Given the description of an element on the screen output the (x, y) to click on. 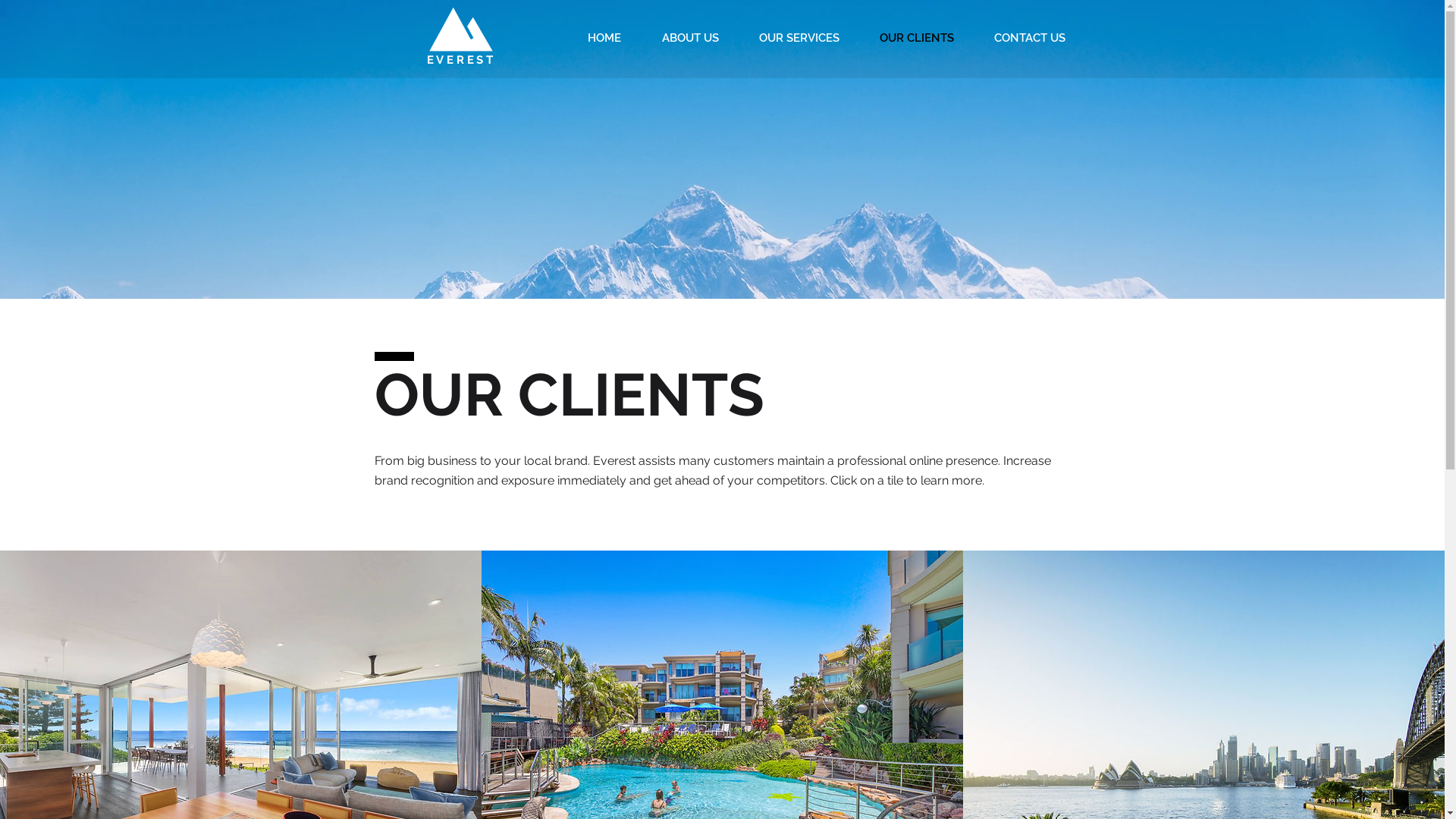
OUR CLIENTS Element type: text (916, 37)
ABOUT US Element type: text (690, 37)
CONTACT US Element type: text (1029, 37)
HOME Element type: text (604, 37)
OUR SERVICES Element type: text (798, 37)
